Given the description of an element on the screen output the (x, y) to click on. 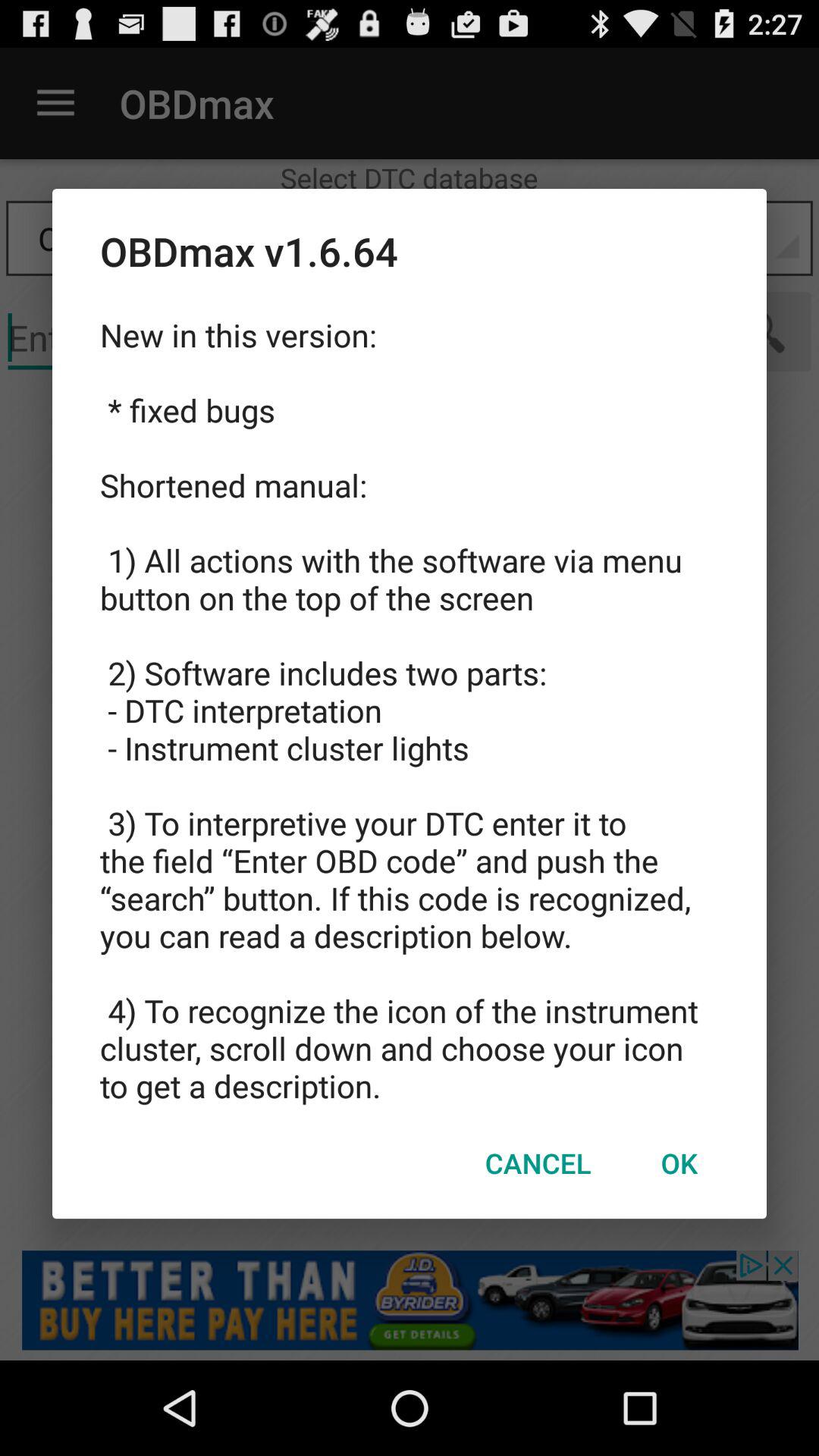
select the item to the left of the ok item (538, 1162)
